Given the description of an element on the screen output the (x, y) to click on. 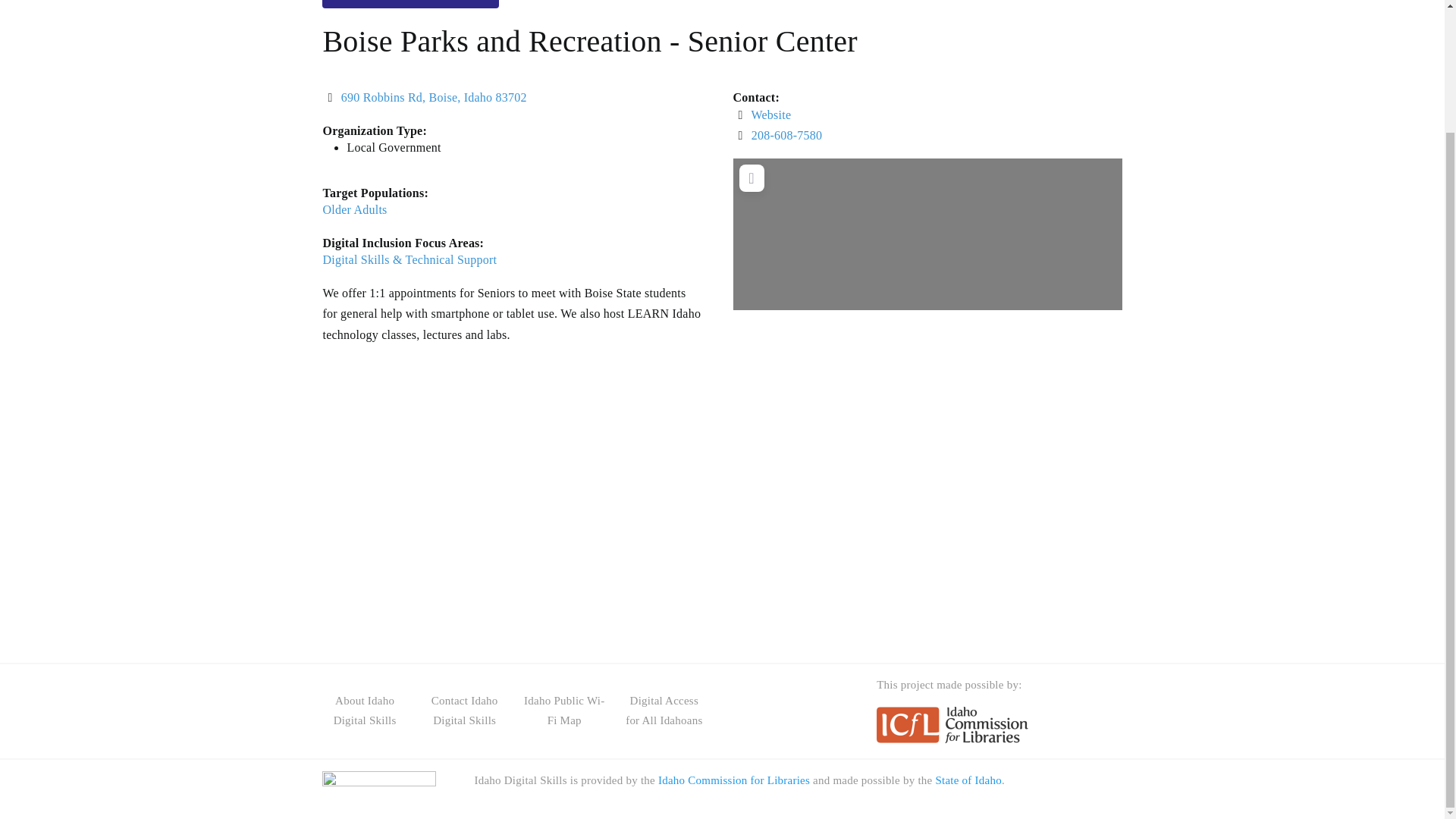
About Idaho Digital Skills (364, 710)
Back to Full Directory (410, 4)
Idaho Commission for Libraries (733, 779)
208-608-7580 (786, 134)
View on map (433, 97)
690 Robbins Rd, Boise, Idaho 83702 (433, 97)
Older Adults (354, 209)
Contact Idaho Digital Skills (463, 710)
State of Idaho (967, 779)
Idaho Public Wi-Fi Map (564, 710)
